Given the description of an element on the screen output the (x, y) to click on. 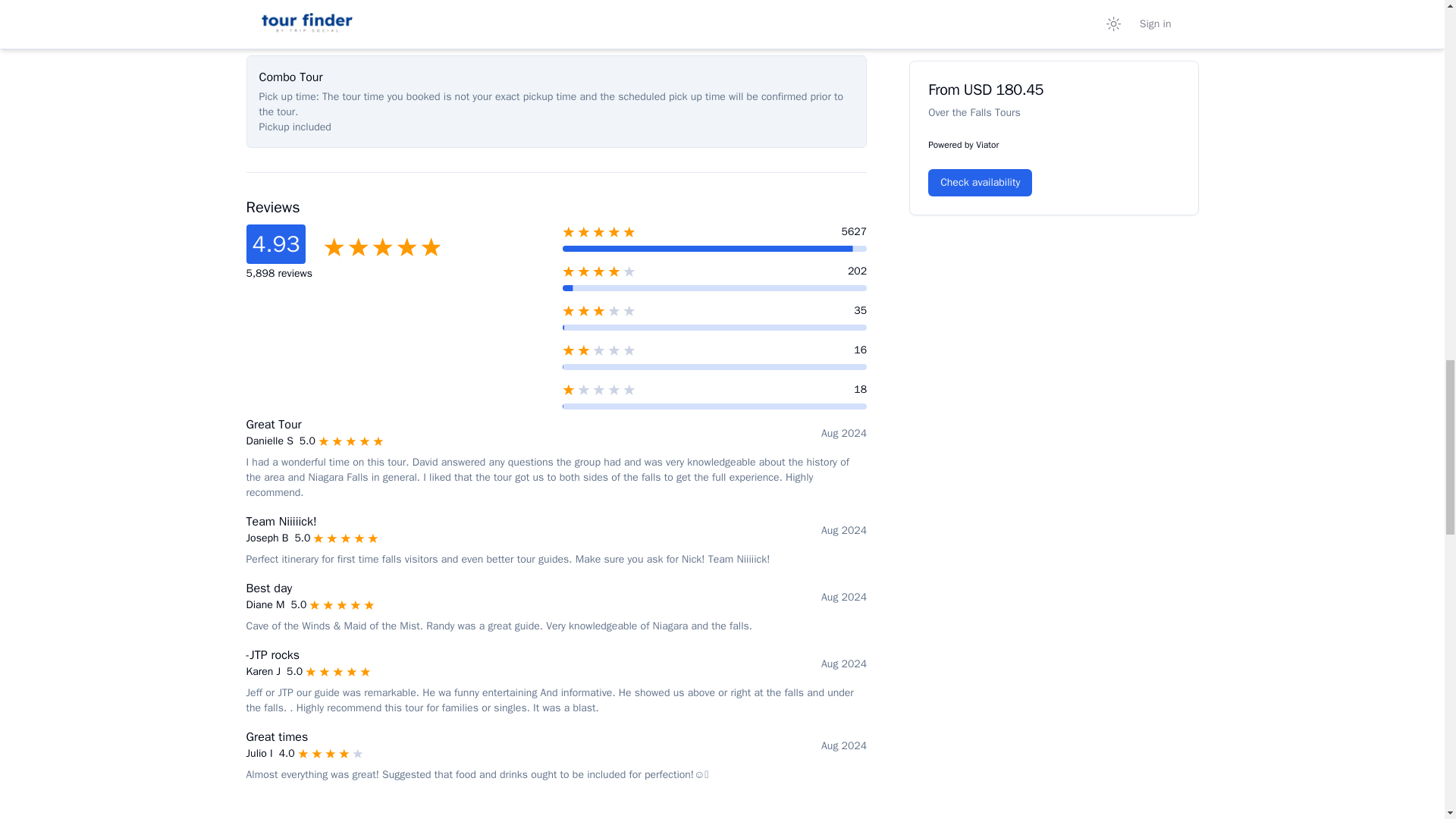
4 Stars (330, 753)
5 Stars (351, 441)
2 Stars (638, 350)
5 Stars (341, 604)
4 Stars (638, 271)
5 Stars (638, 232)
4.93 Stars (382, 246)
1 Star (638, 390)
3 Stars (638, 310)
5 Stars (345, 538)
